Given the description of an element on the screen output the (x, y) to click on. 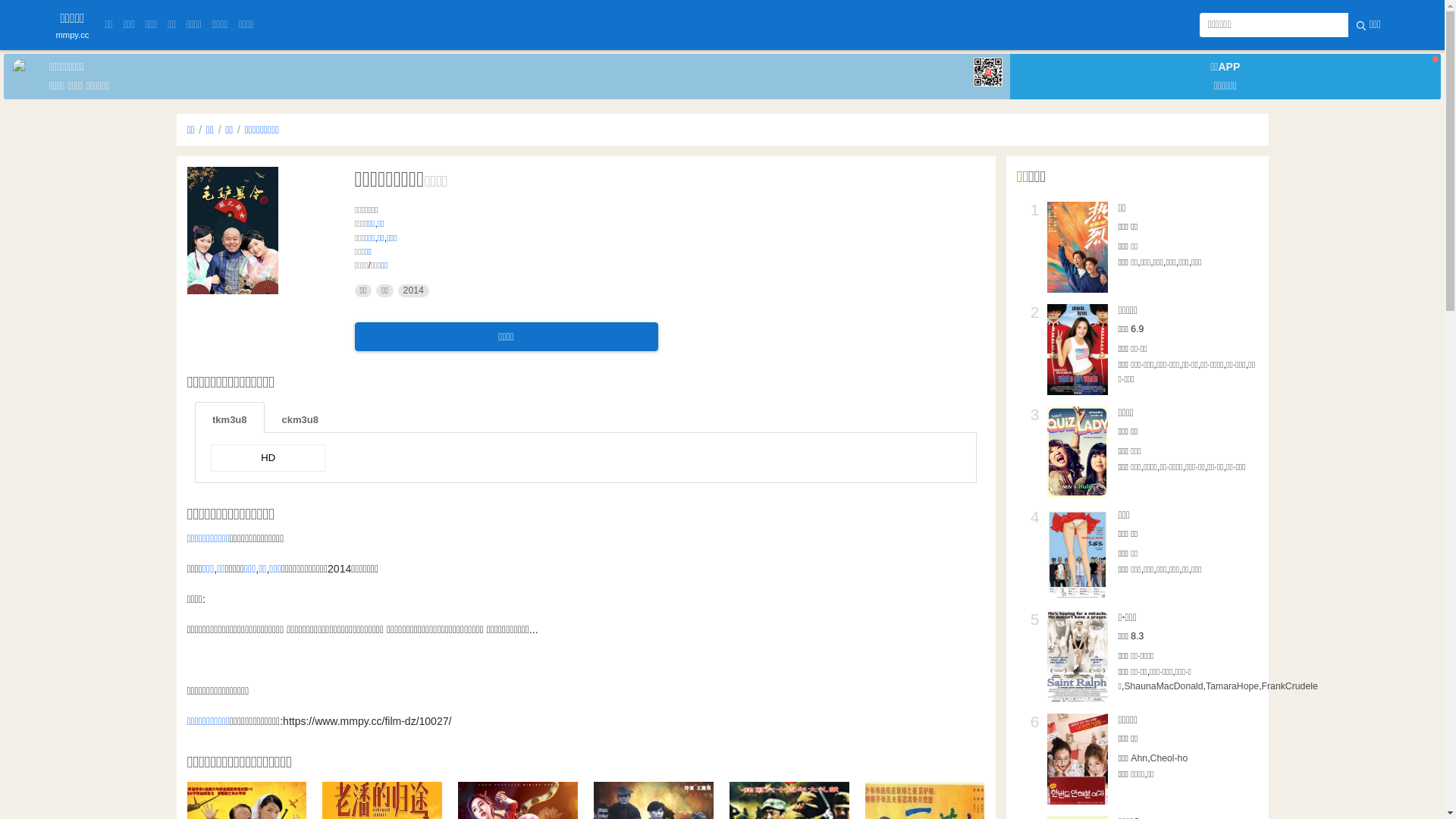
FrankCrudele Element type: text (1289, 685)
ckm3u8 Element type: text (299, 417)
TamaraHope Element type: text (1231, 685)
ShaunaMacDonald Element type: text (1162, 685)
HD Element type: text (267, 457)
Ahn Element type: text (1138, 758)
Cheol-ho Element type: text (1169, 758)
tkm3u8 Element type: text (229, 417)
2014 Element type: text (413, 290)
